Given the description of an element on the screen output the (x, y) to click on. 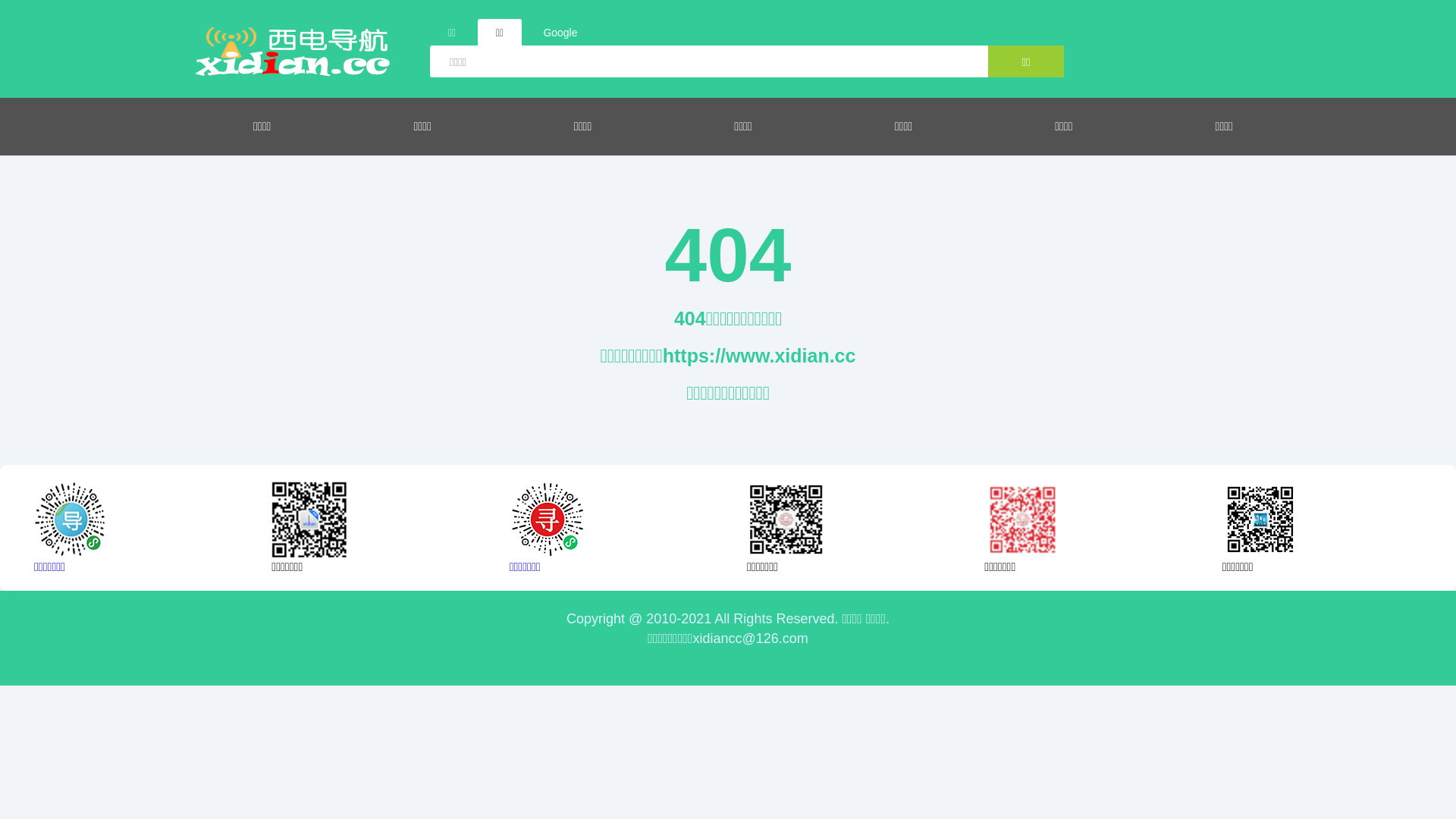
https://www.xidian.cc Element type: text (759, 355)
